Given the description of an element on the screen output the (x, y) to click on. 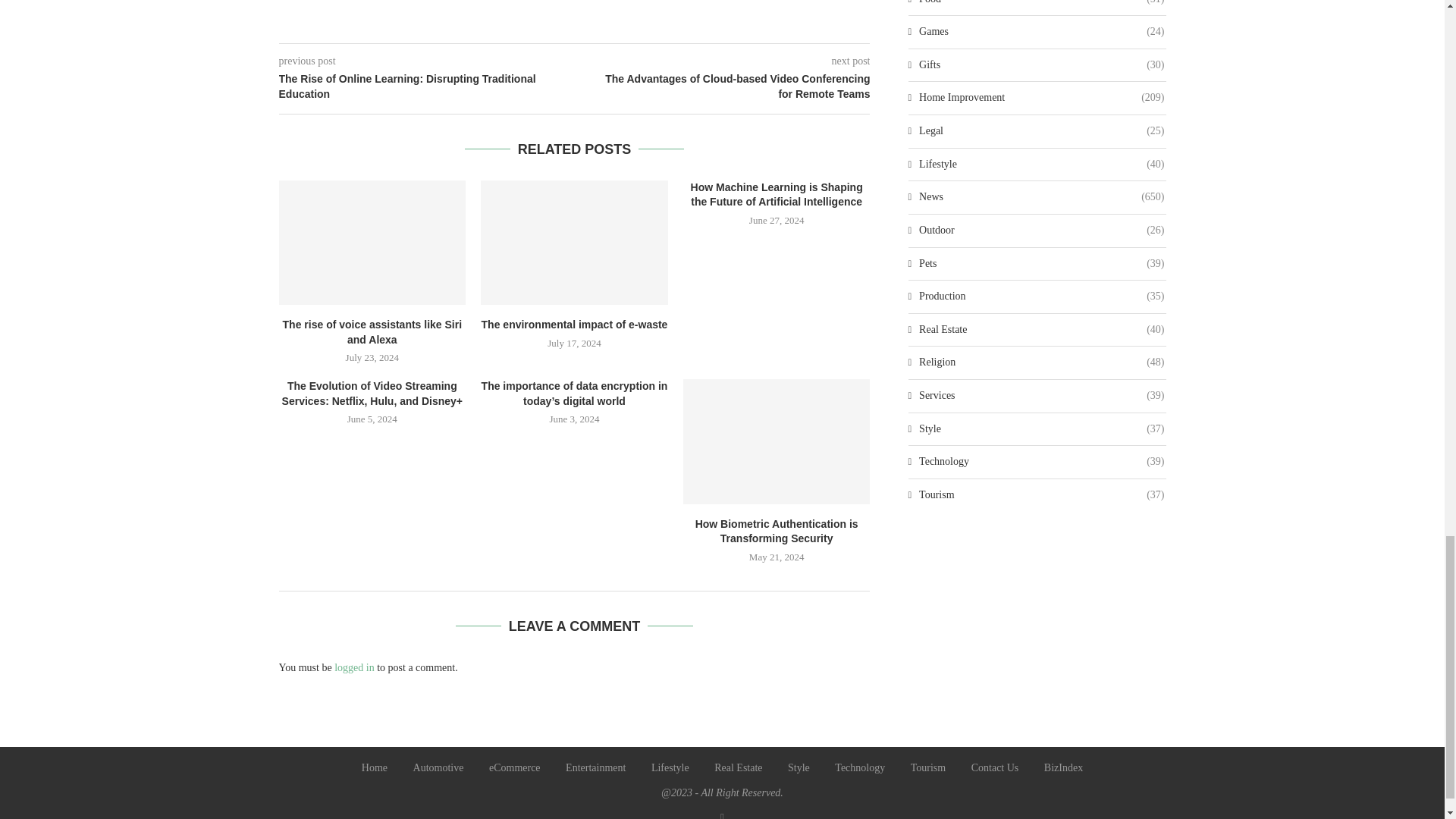
The rise of voice assistants like Siri and Alexa (372, 242)
The environmental impact of e-waste (574, 242)
How Biometric Authentication is Transforming Security (776, 441)
